Given the description of an element on the screen output the (x, y) to click on. 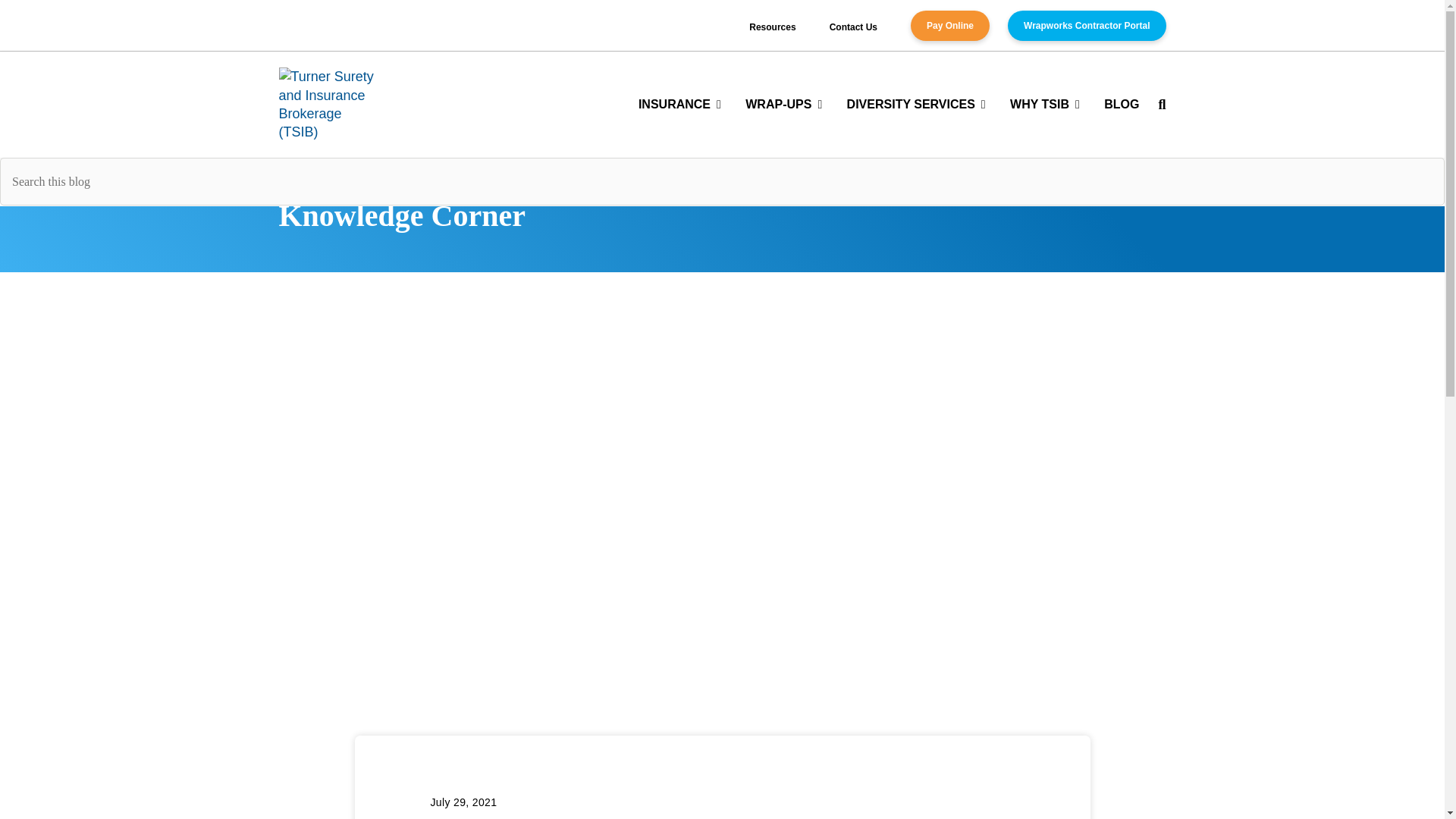
INSURANCE (679, 103)
Wrapworks Contractor Portal (1086, 25)
Pay Online (950, 25)
Resources (771, 27)
Contact Us (853, 27)
WRAP-UPS (783, 103)
